Given the description of an element on the screen output the (x, y) to click on. 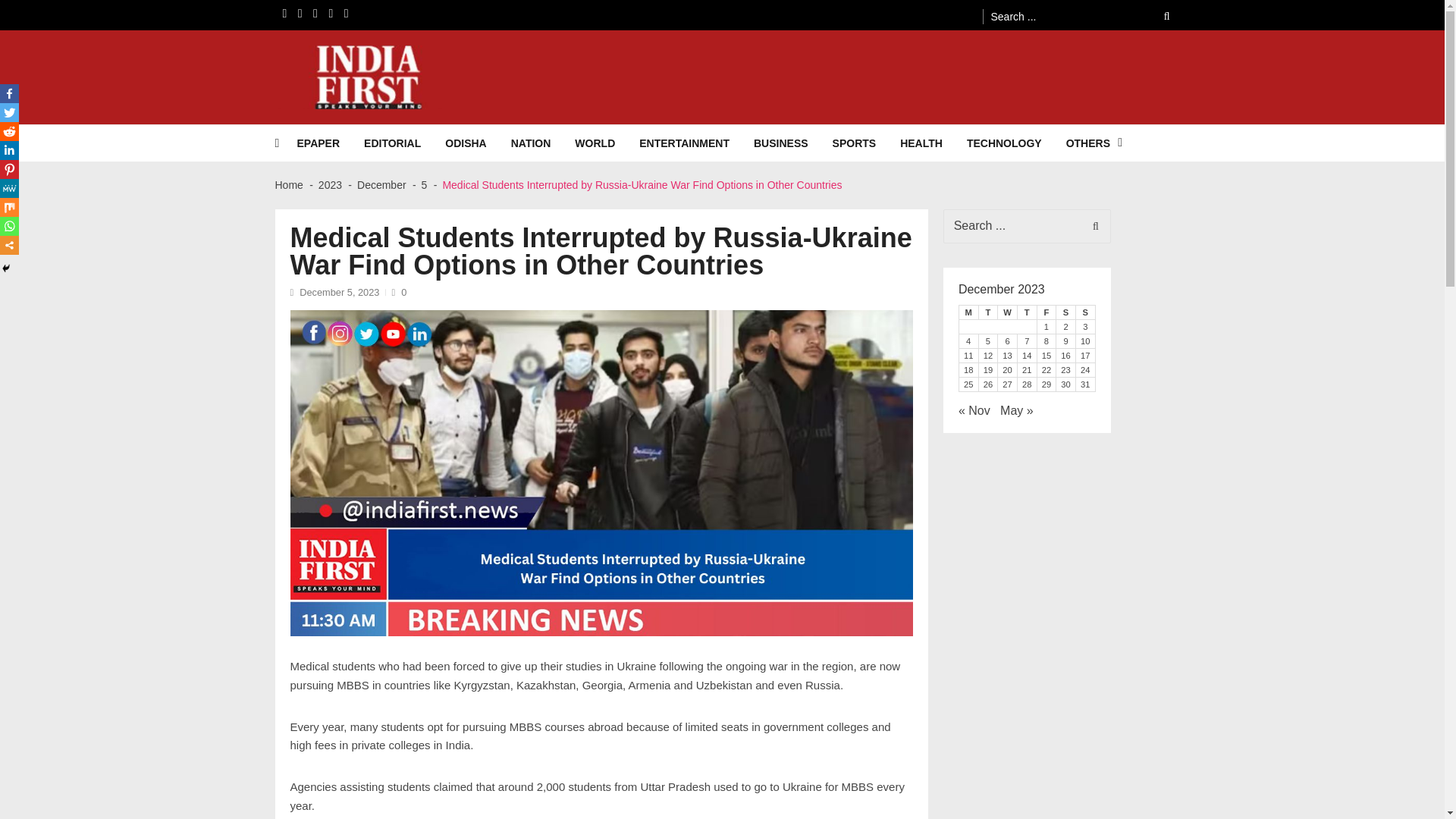
Skip to navigation (48, 6)
Search (1156, 15)
Search (1092, 226)
More (9, 244)
Pinterest (9, 169)
MeWe (9, 188)
Facebook (9, 93)
Whatsapp (9, 226)
Search (1156, 15)
Skip to content (40, 6)
Linkedin (9, 149)
Reddit (9, 131)
Search (1092, 226)
Twitter (9, 112)
Mix (9, 207)
